Given the description of an element on the screen output the (x, y) to click on. 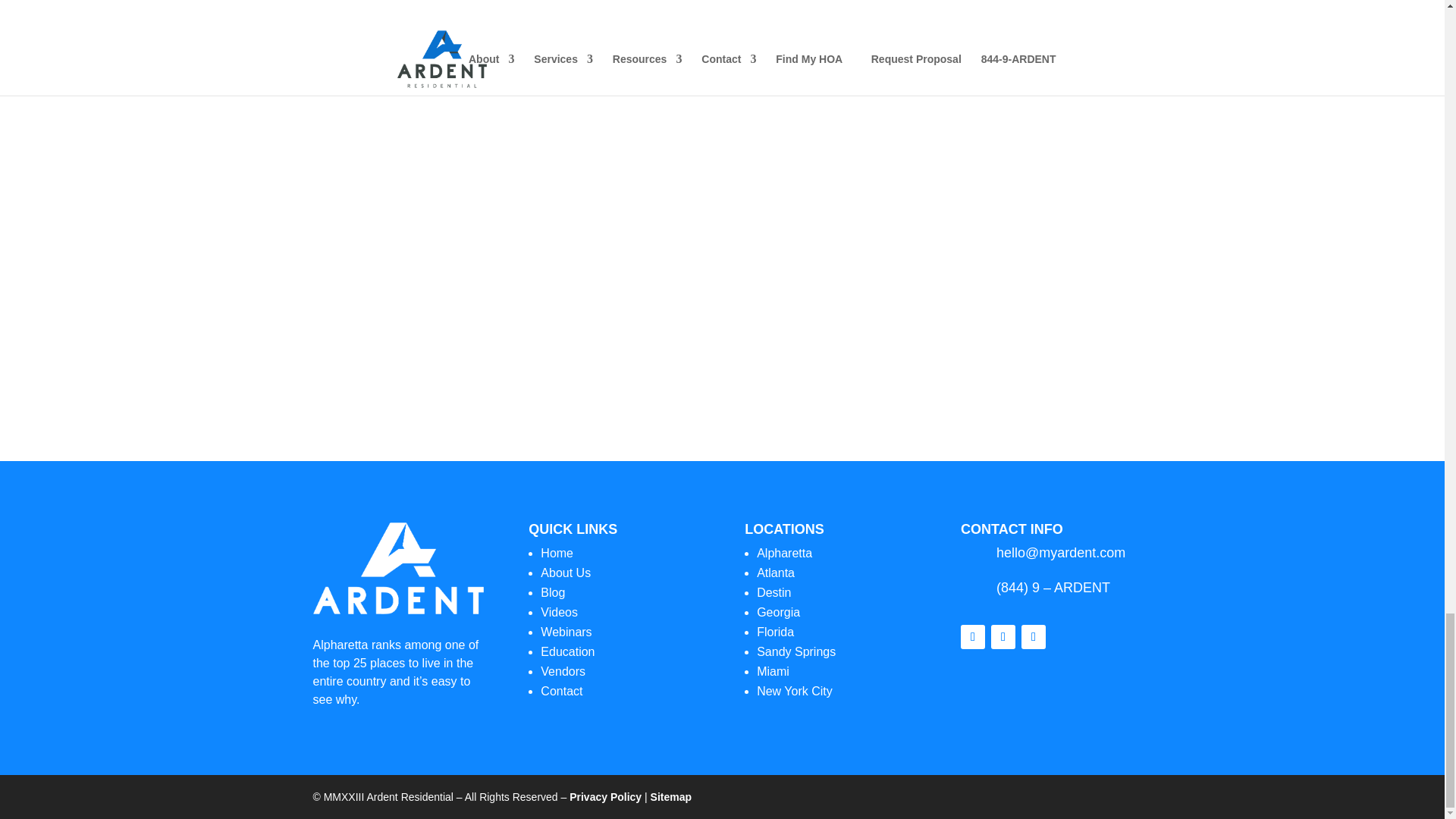
Asset 2 (398, 568)
Follow on LinkedIn (186, 52)
Follow on LinkedIn (1033, 636)
Follow on Facebook (972, 636)
Follow on Facebook (96, 52)
Follow on Twitter (141, 52)
Follow on Twitter (1002, 636)
